Given the description of an element on the screen output the (x, y) to click on. 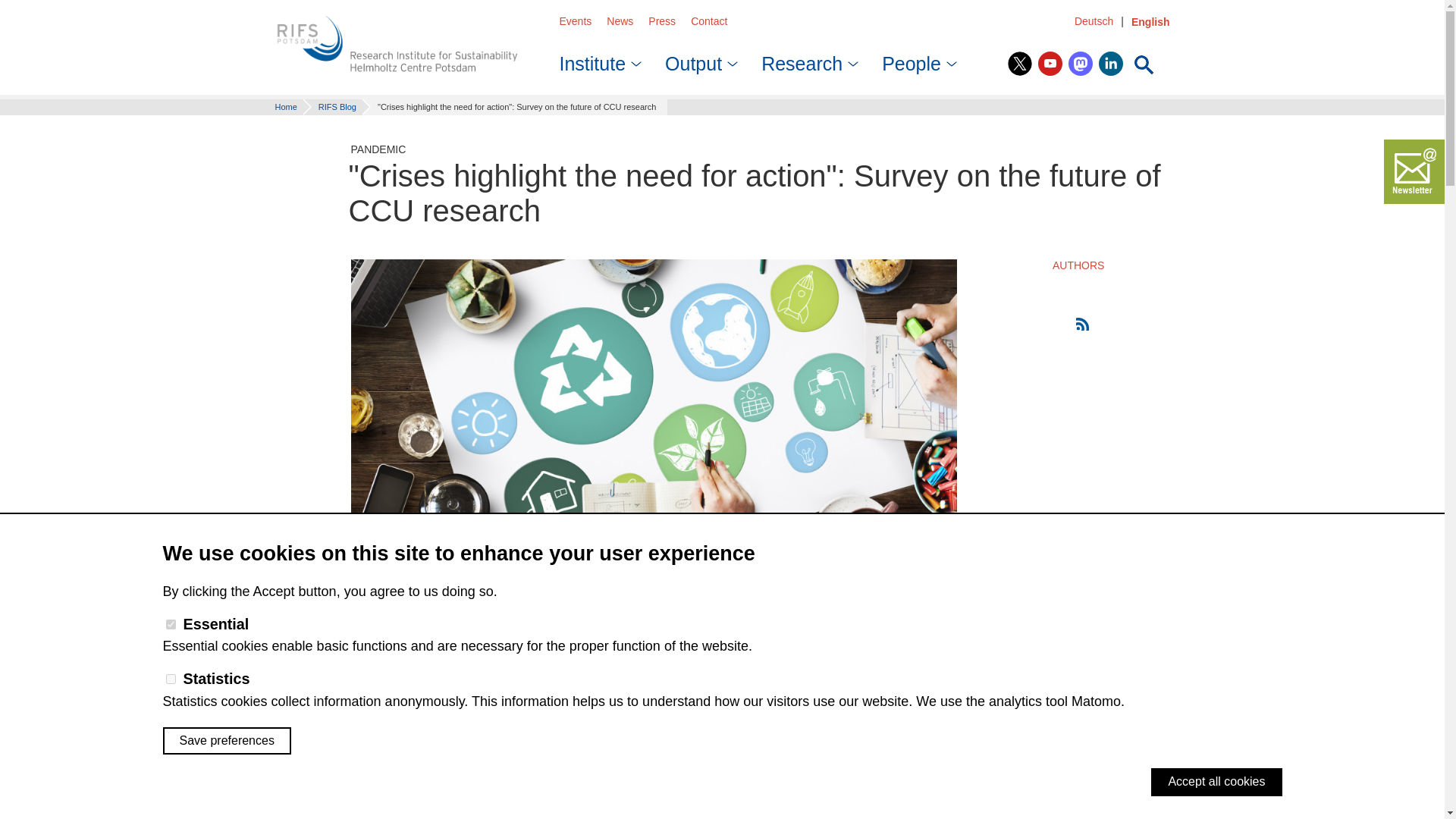
Twitter X (1019, 63)
Output (697, 59)
matomo (169, 678)
Mastodon (1080, 63)
Institute (597, 59)
YouTube (1050, 63)
People (915, 59)
Contact (708, 21)
News (620, 21)
